Given the description of an element on the screen output the (x, y) to click on. 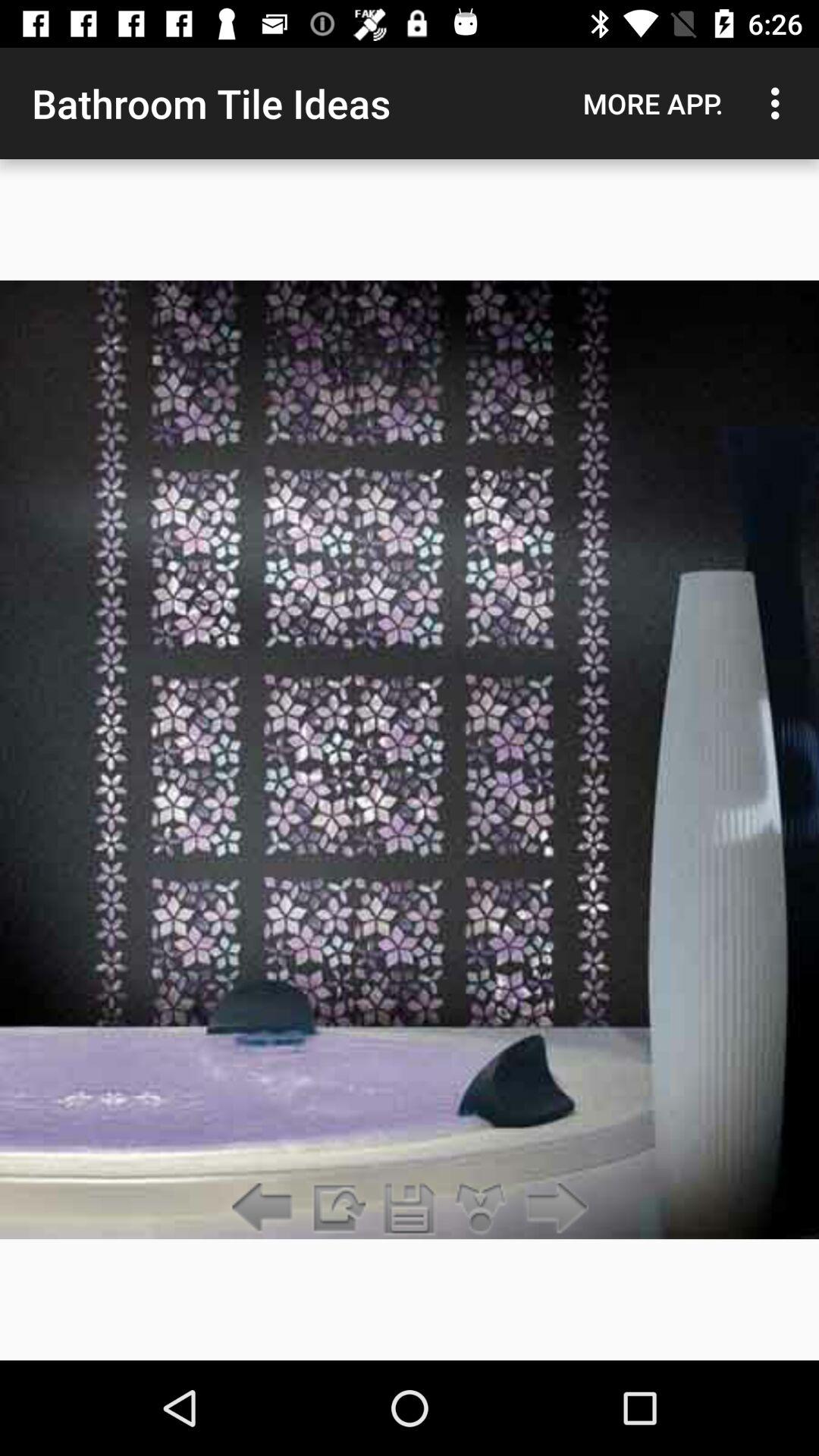
save this photo (409, 1208)
